Given the description of an element on the screen output the (x, y) to click on. 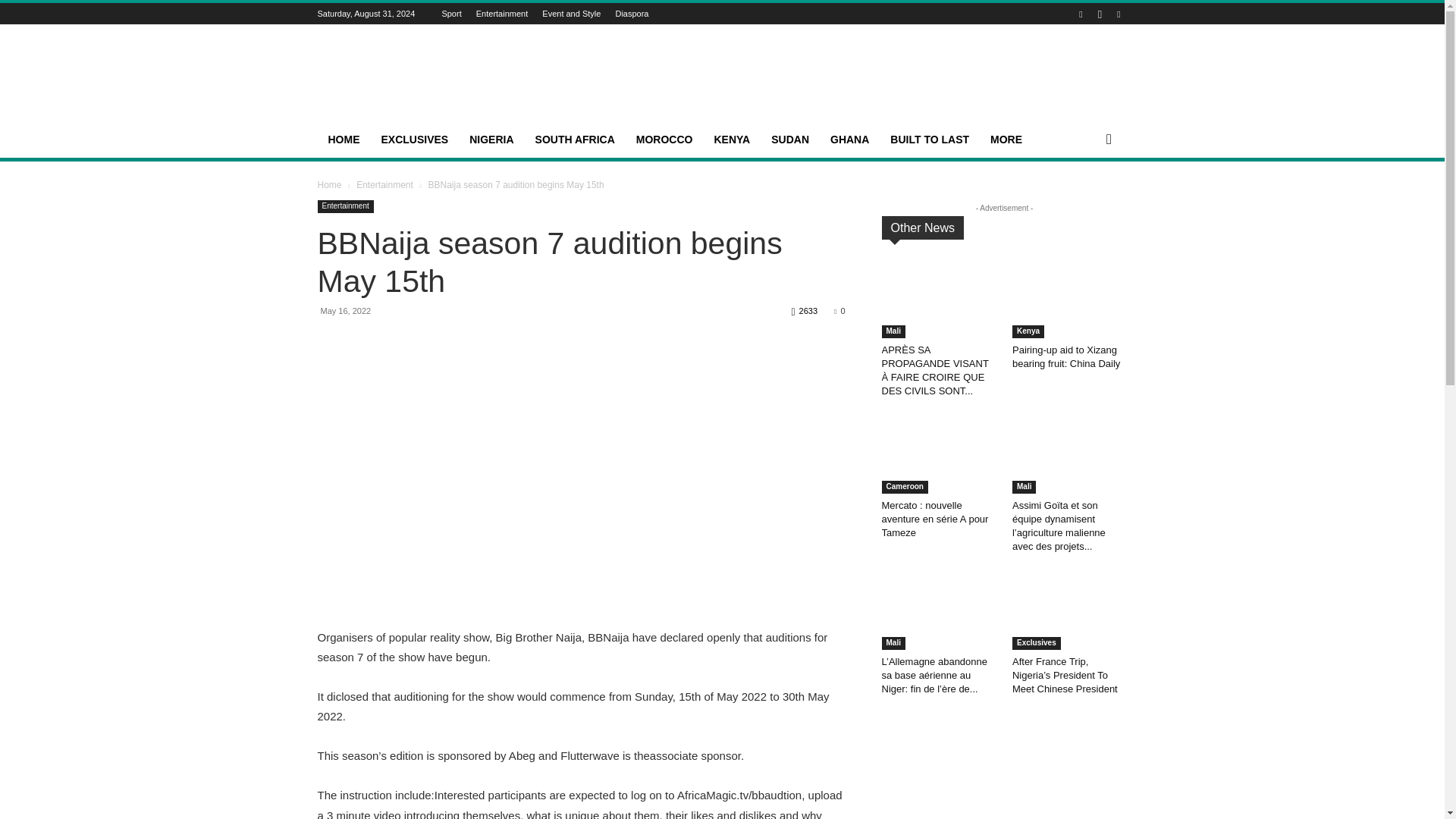
SOUTH AFRICA (575, 139)
HOME (343, 139)
MOROCCO (664, 139)
Event and Style (570, 13)
EXCLUSIVES (413, 139)
NIGERIA (491, 139)
Sport (451, 13)
Entertainment (501, 13)
View all posts in Entertainment (384, 184)
Diaspora (630, 13)
